Given the description of an element on the screen output the (x, y) to click on. 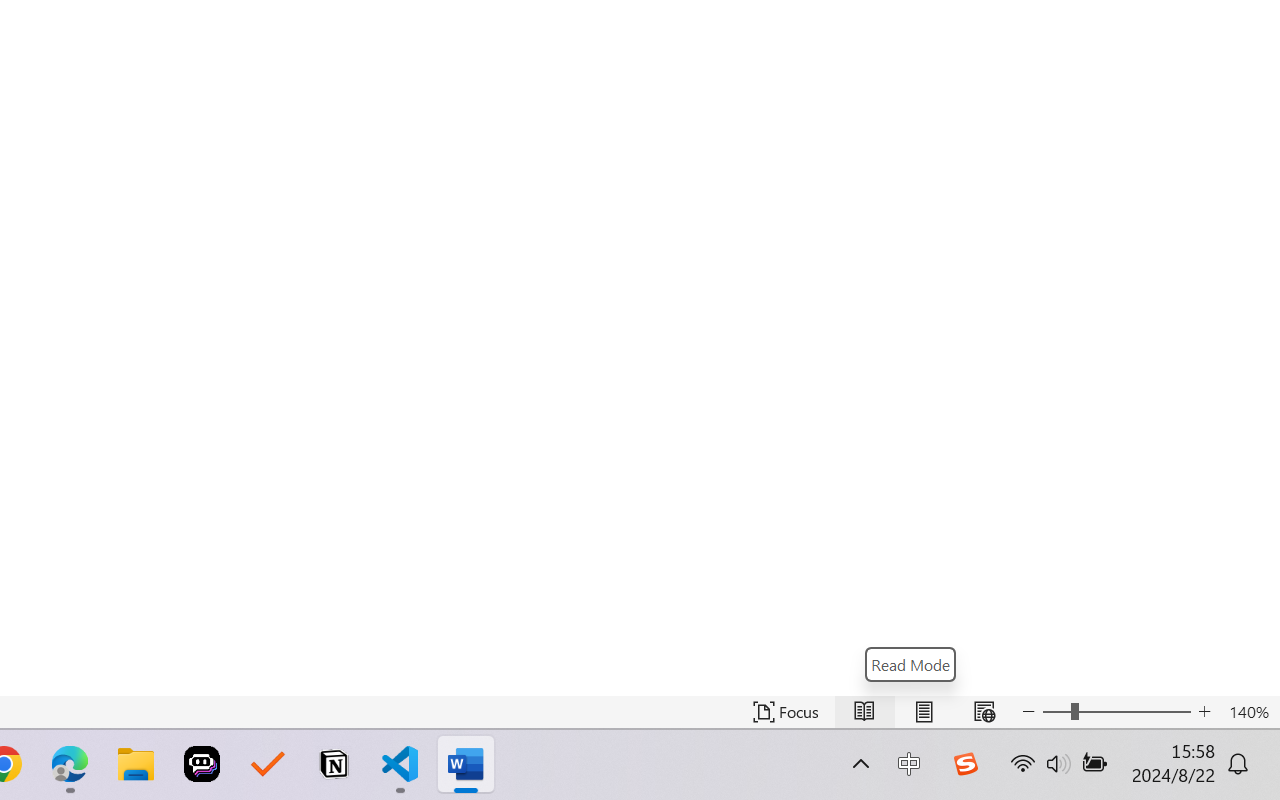
Zoom Out (1056, 712)
Print Layout (924, 712)
Read Mode (910, 664)
Read Mode (864, 712)
Text Size (1116, 712)
Class: Image (965, 764)
Decrease Text Size (1028, 712)
Zoom In (1135, 712)
Web Layout (984, 712)
Increase Text Size (1204, 712)
Focus  (786, 712)
